Given the description of an element on the screen output the (x, y) to click on. 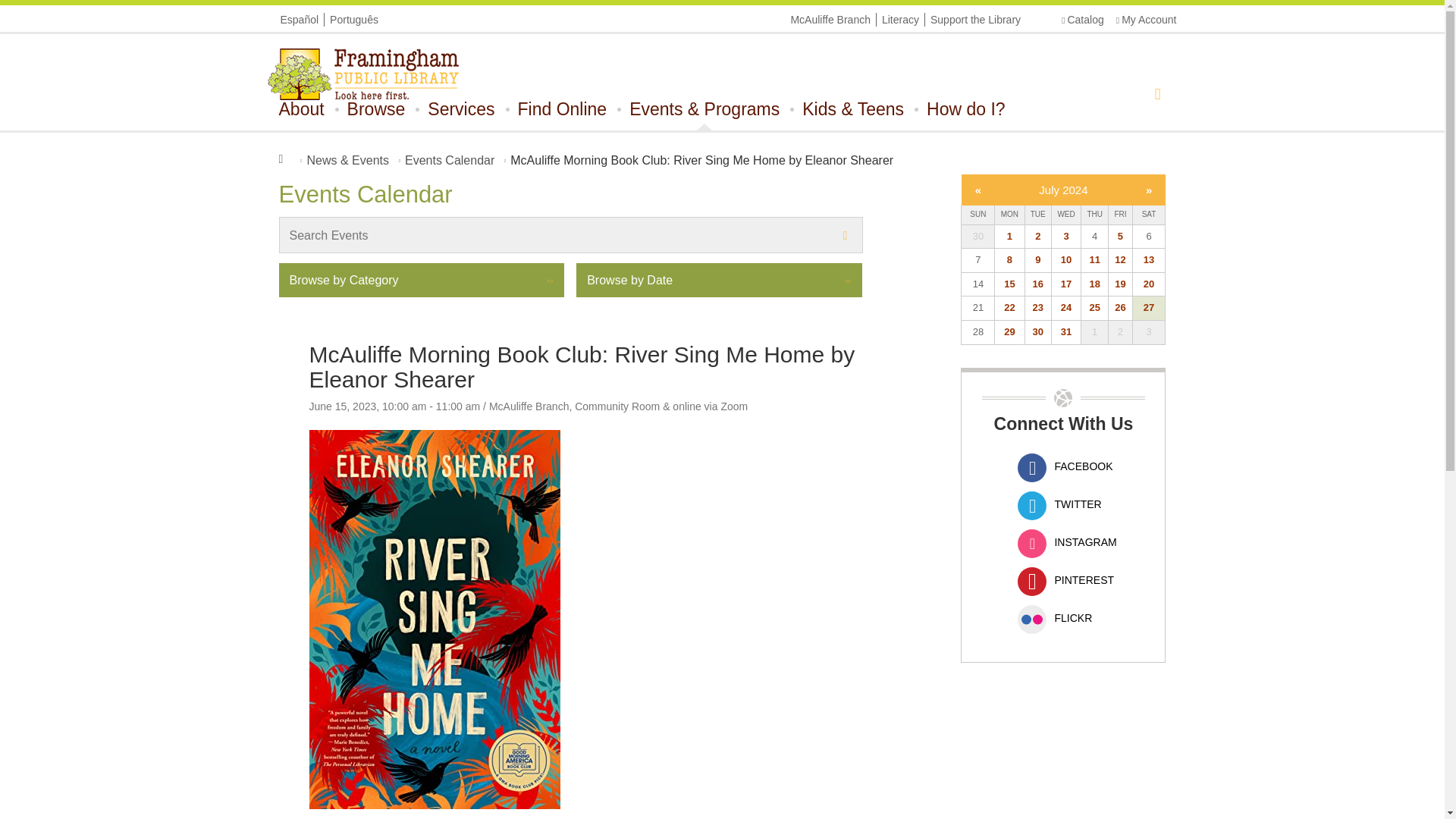
Catalog (1082, 19)
Literacy (900, 19)
Support the Library (975, 19)
Browse by Category (421, 279)
McAuliffe Branch (830, 19)
Services (461, 108)
My Account (1146, 19)
Browse by Category (718, 279)
Browse (376, 108)
About (301, 108)
